Given the description of an element on the screen output the (x, y) to click on. 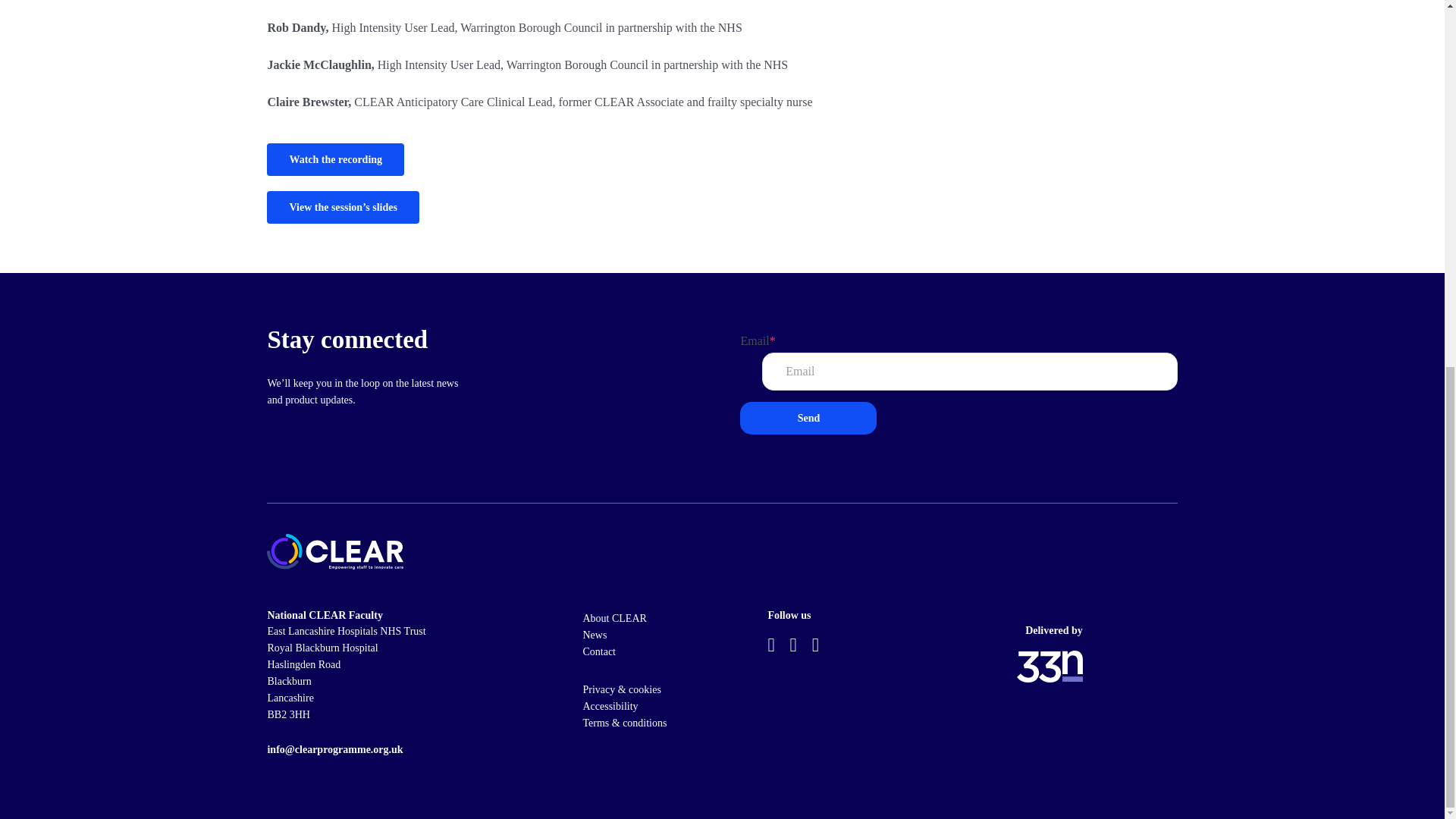
Send (807, 418)
LinkedIn (815, 644)
YouTube (793, 644)
Watch the recording (335, 159)
About CLEAR (614, 618)
Send (807, 418)
Accessibility (609, 706)
Watch the recording (721, 166)
News (594, 634)
Contact (598, 651)
Twitter (770, 644)
